Given the description of an element on the screen output the (x, y) to click on. 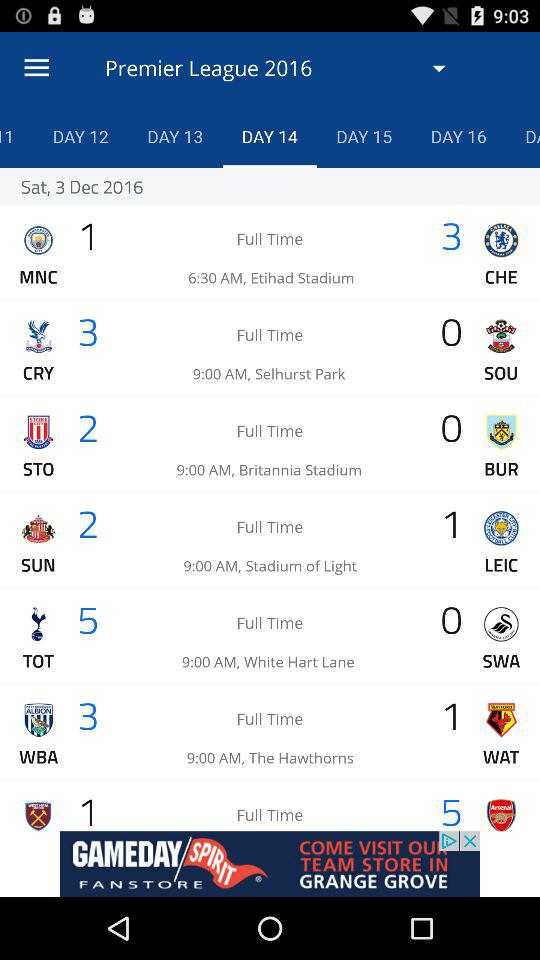
go to option (270, 864)
